Given the description of an element on the screen output the (x, y) to click on. 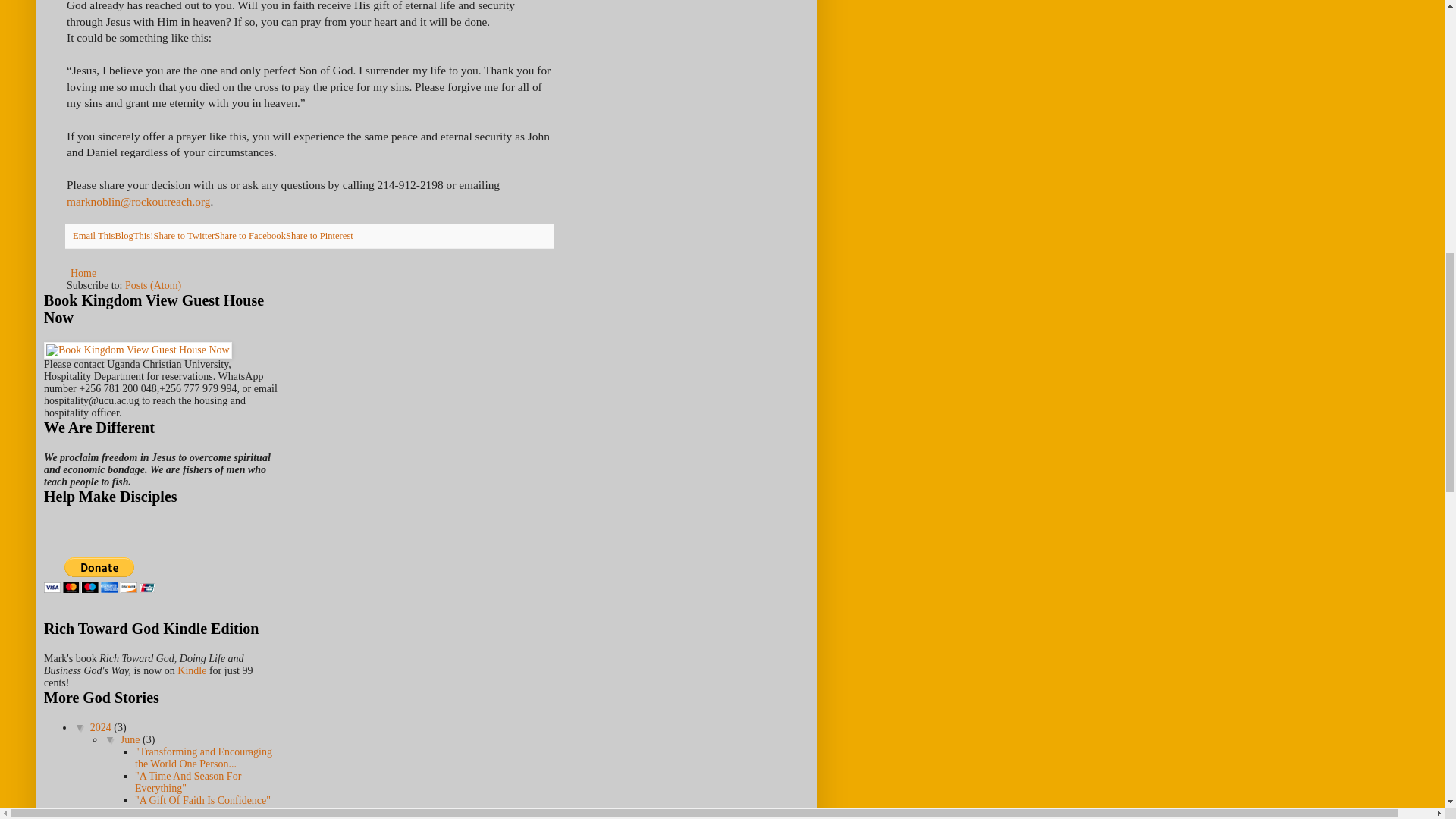
BlogThis! (133, 235)
Home (83, 272)
2023 (102, 818)
Email This (93, 235)
2024 (102, 727)
Share to Facebook (249, 235)
Share to Twitter (183, 235)
Kindle (191, 670)
Email This (93, 235)
Share to Pinterest (319, 235)
